Given the description of an element on the screen output the (x, y) to click on. 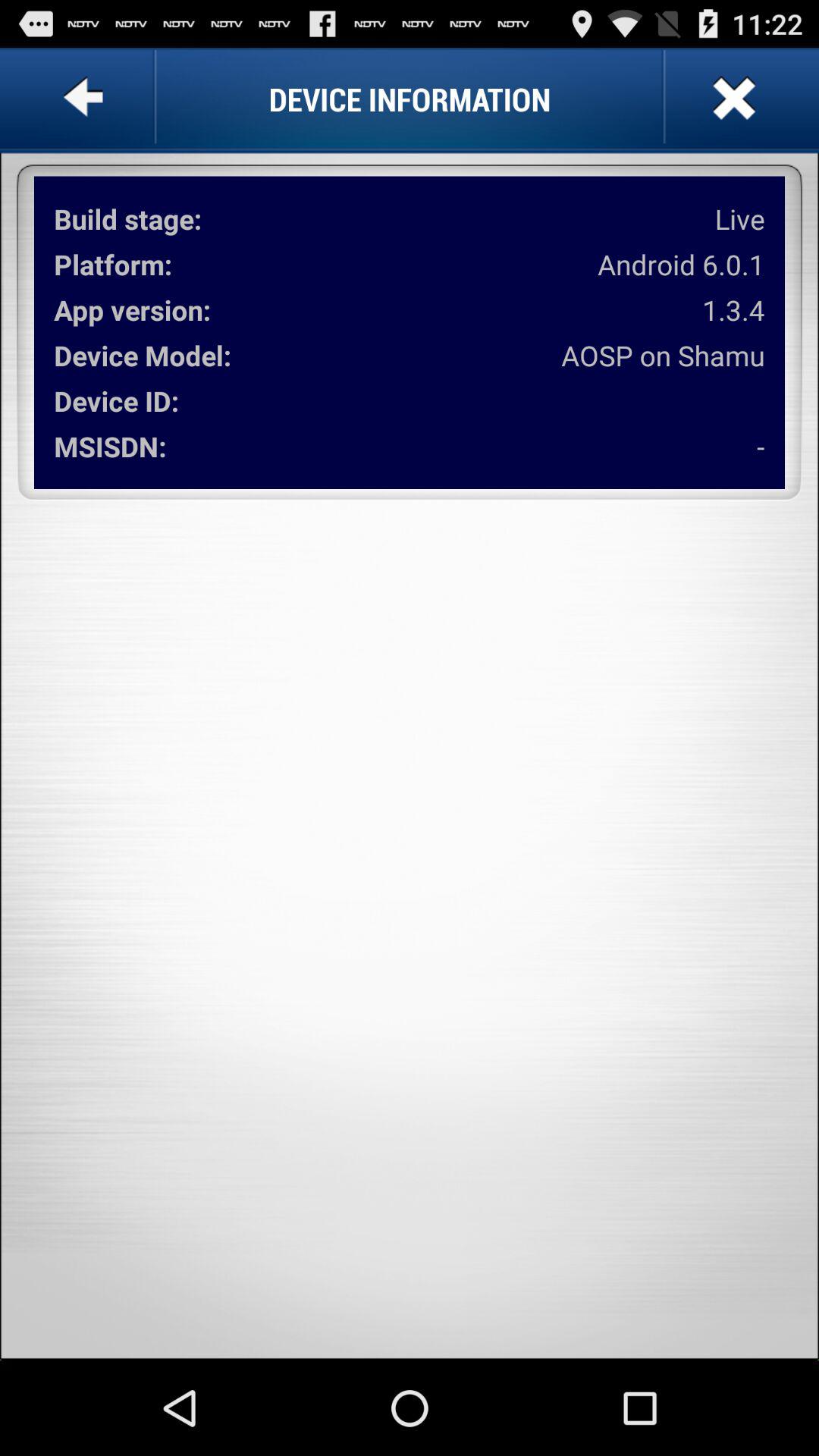
press the app next to device information app (732, 99)
